Given the description of an element on the screen output the (x, y) to click on. 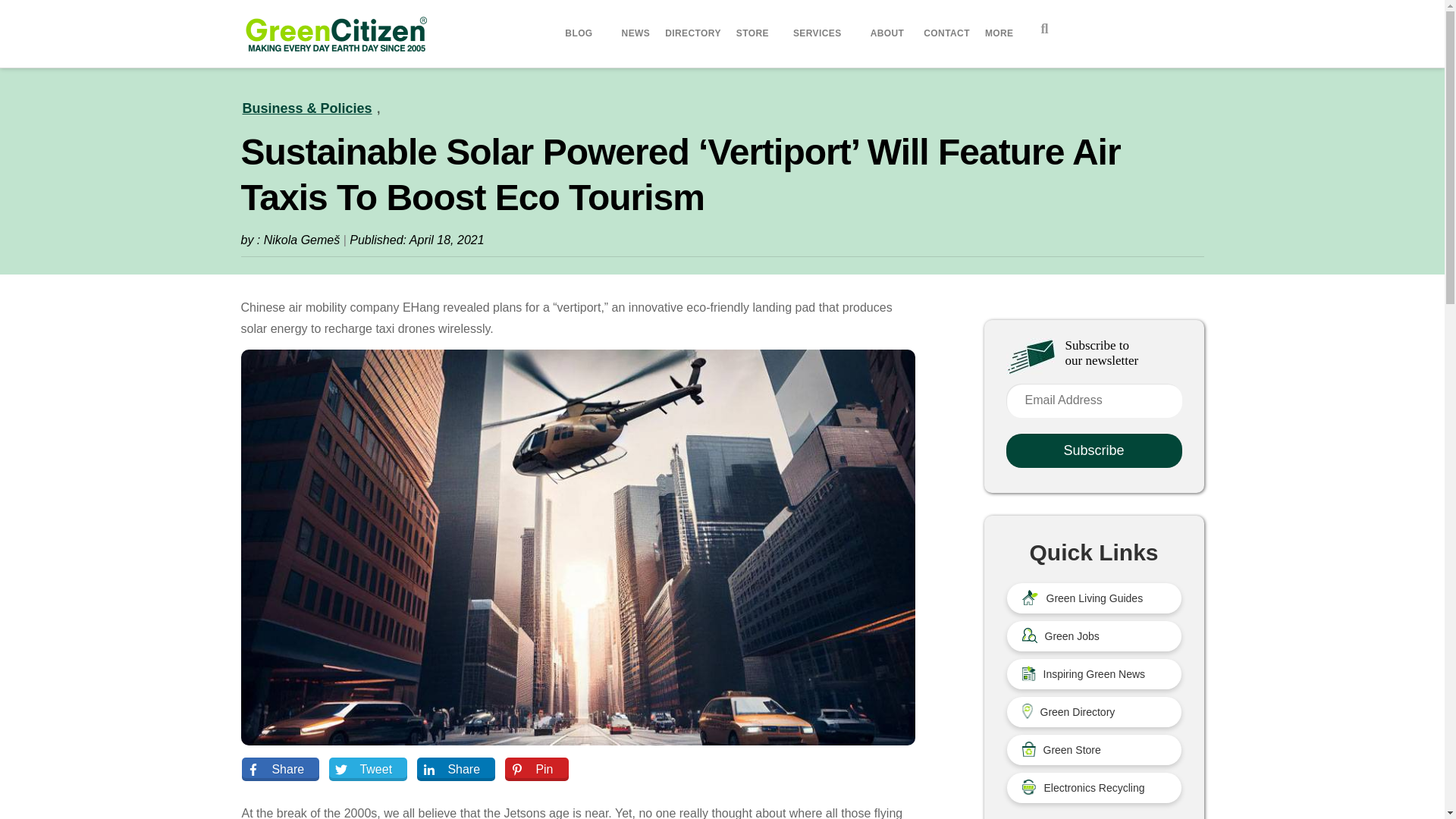
NEWS (635, 32)
ABOUT (889, 32)
CONTACT (946, 32)
BLOG (580, 33)
MORE (1001, 32)
DIRECTORY (692, 32)
Subscribe (1093, 450)
STORE (752, 32)
SERVICES (820, 33)
